Given the description of an element on the screen output the (x, y) to click on. 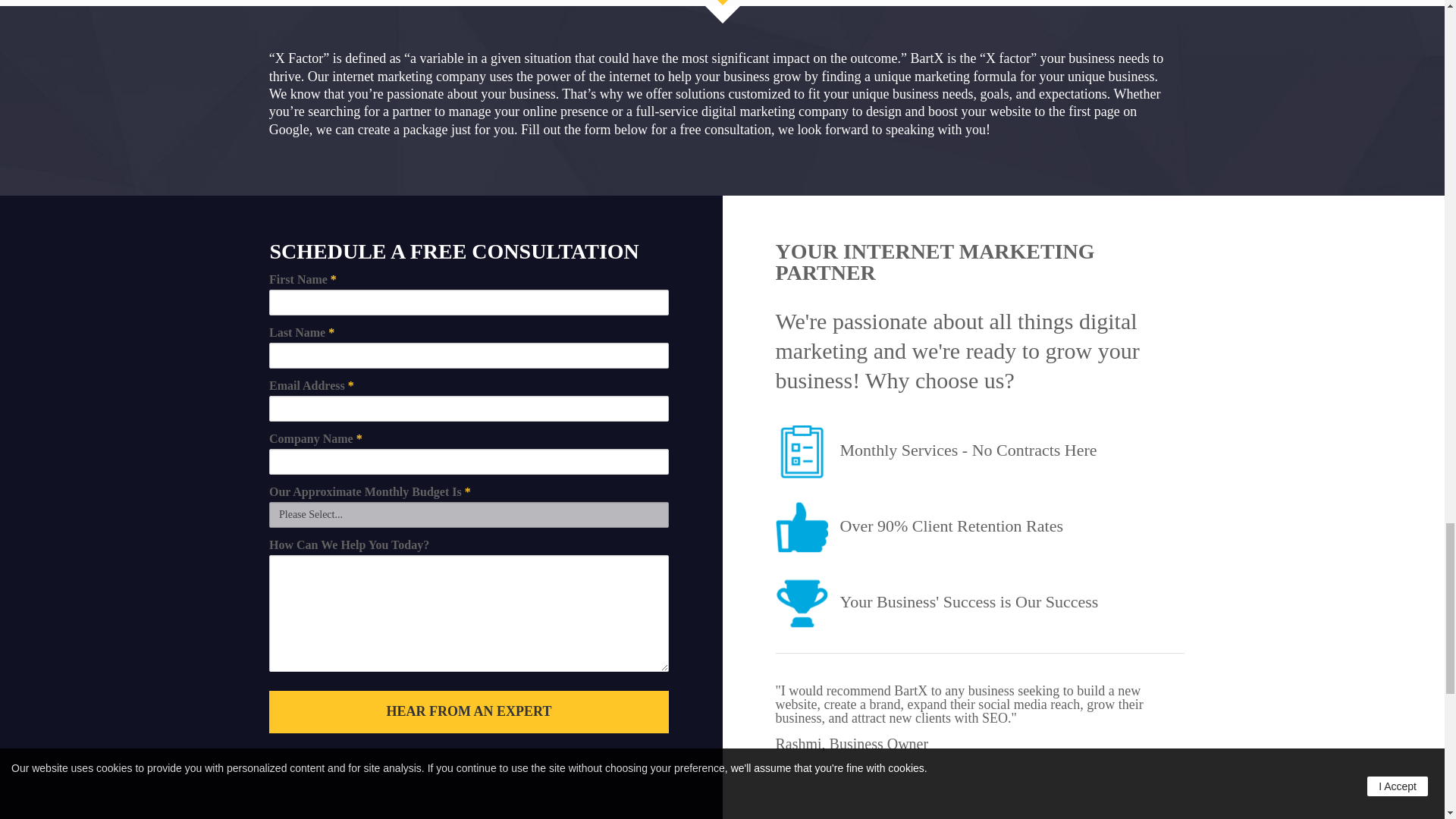
HEAR FROM AN EXPERT (468, 712)
